Given the description of an element on the screen output the (x, y) to click on. 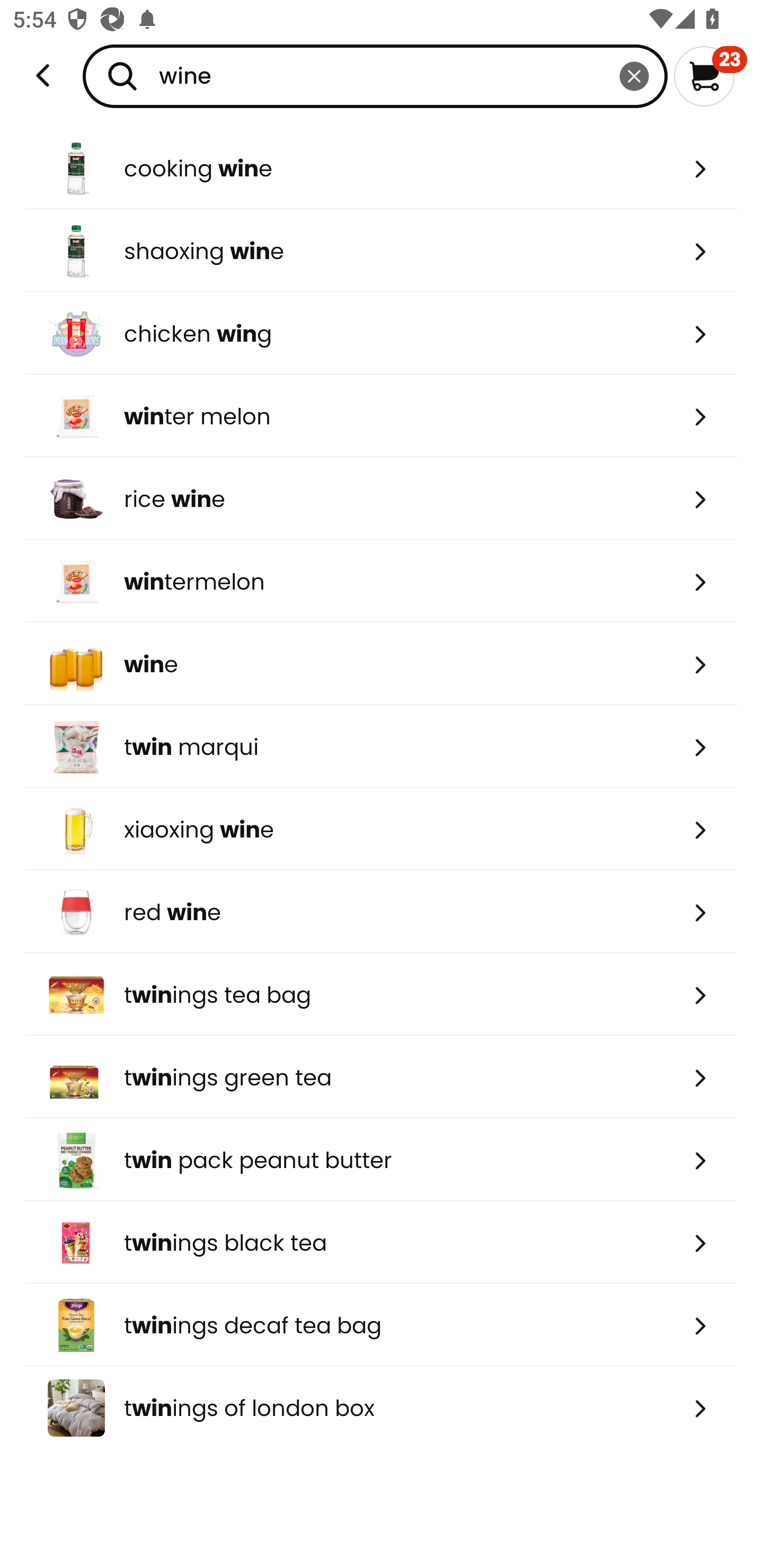
wine (374, 75)
23 (709, 75)
Weee! (42, 76)
cooking wine (381, 168)
shaoxing wine (381, 250)
chicken wing (381, 332)
winter melon (381, 415)
rice wine (381, 498)
wintermelon (381, 581)
wine (381, 663)
twin marqui (381, 746)
xiaoxing wine (381, 829)
red wine (381, 911)
twinings tea bag (381, 994)
twinings green tea (381, 1077)
twin pack peanut butter (381, 1160)
twinings black tea (381, 1242)
twinings decaf tea bag (381, 1325)
twinings of london box (381, 1407)
